Given the description of an element on the screen output the (x, y) to click on. 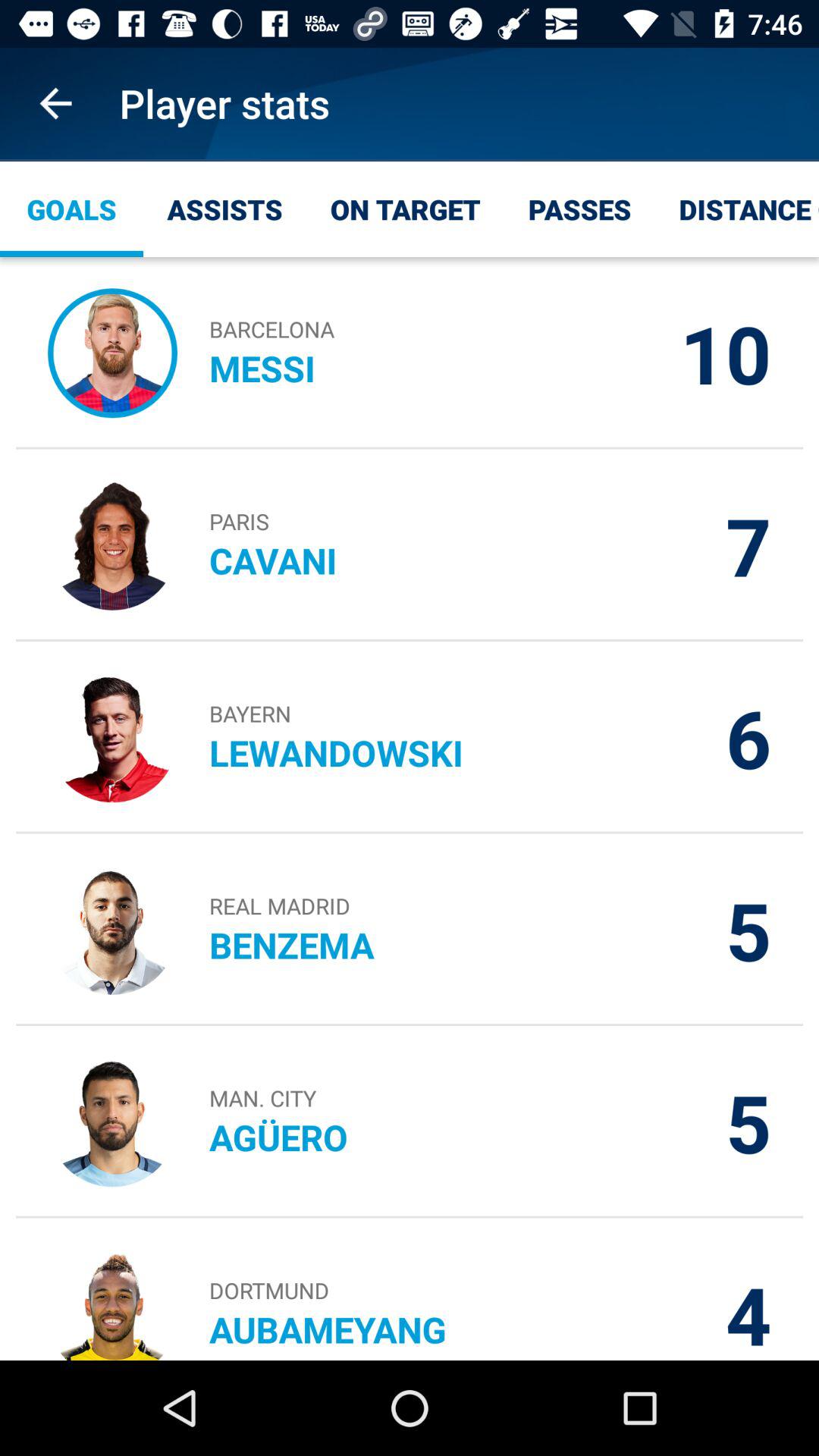
go back (55, 103)
